Given the description of an element on the screen output the (x, y) to click on. 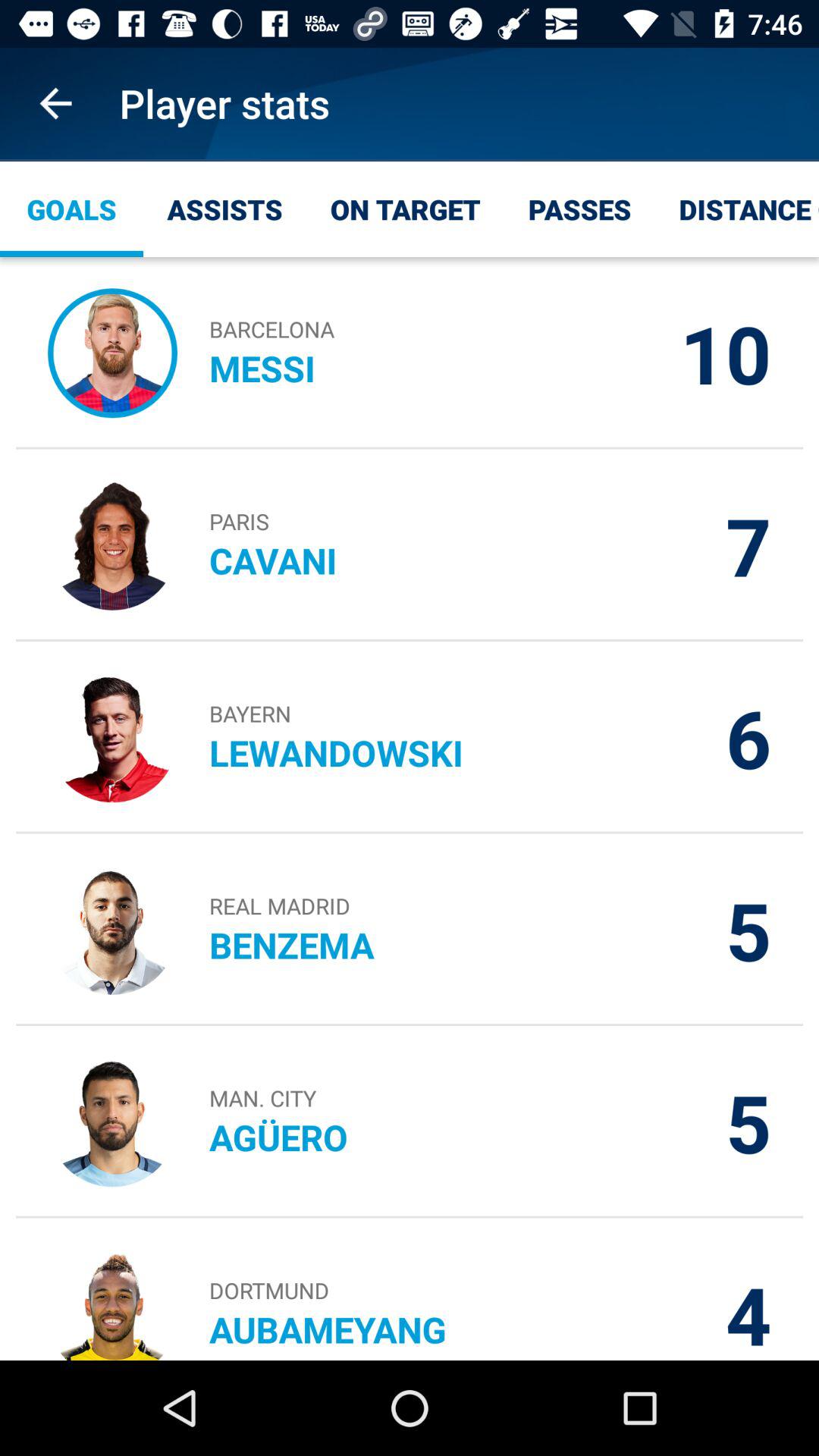
go back (55, 103)
